Given the description of an element on the screen output the (x, y) to click on. 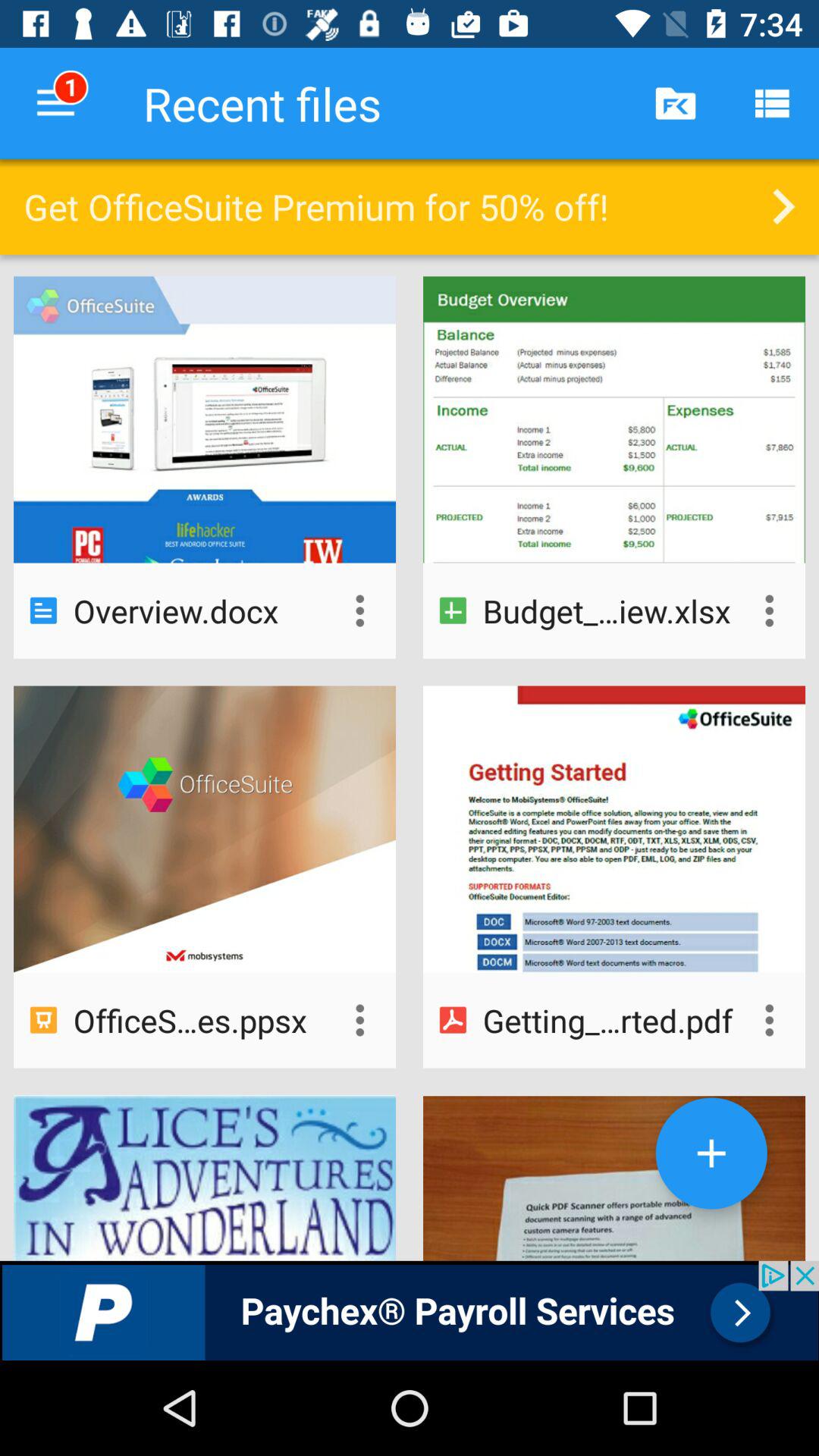
toggle more options (359, 610)
